Given the description of an element on the screen output the (x, y) to click on. 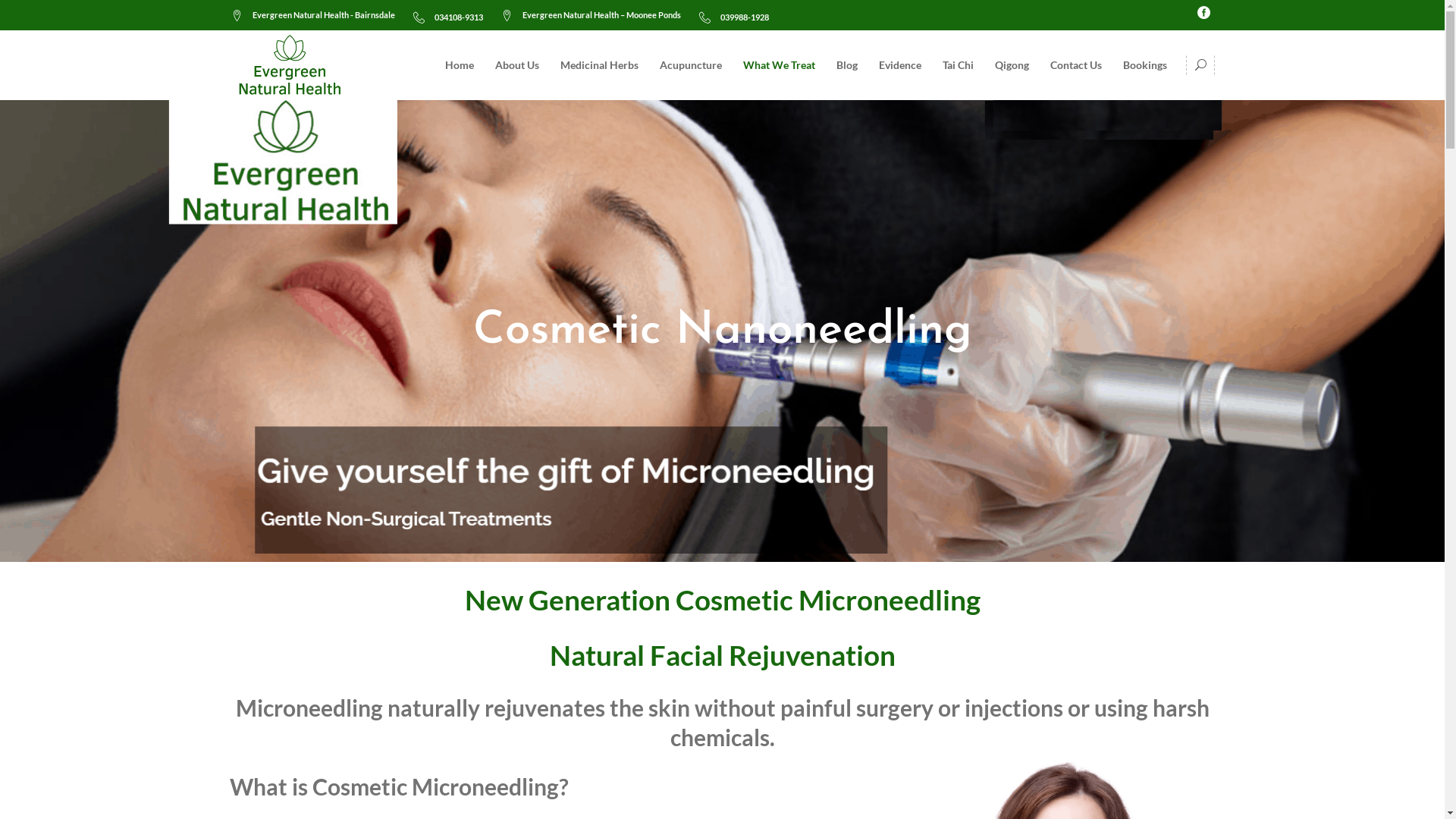
Contact Us Element type: text (1074, 65)
What We Treat Element type: text (778, 65)
Home Element type: text (458, 65)
Qigong Element type: text (1011, 65)
034108-9313 Element type: text (447, 23)
Search Element type: text (1171, 123)
Bookings Element type: text (1143, 65)
Evidence Element type: text (899, 65)
Blog Element type: text (846, 65)
About Us Element type: text (516, 65)
Tai Chi Element type: text (957, 65)
Acupuncture Element type: text (690, 65)
Medicinal Herbs Element type: text (598, 65)
039988-1928 Element type: text (733, 23)
